Given the description of an element on the screen output the (x, y) to click on. 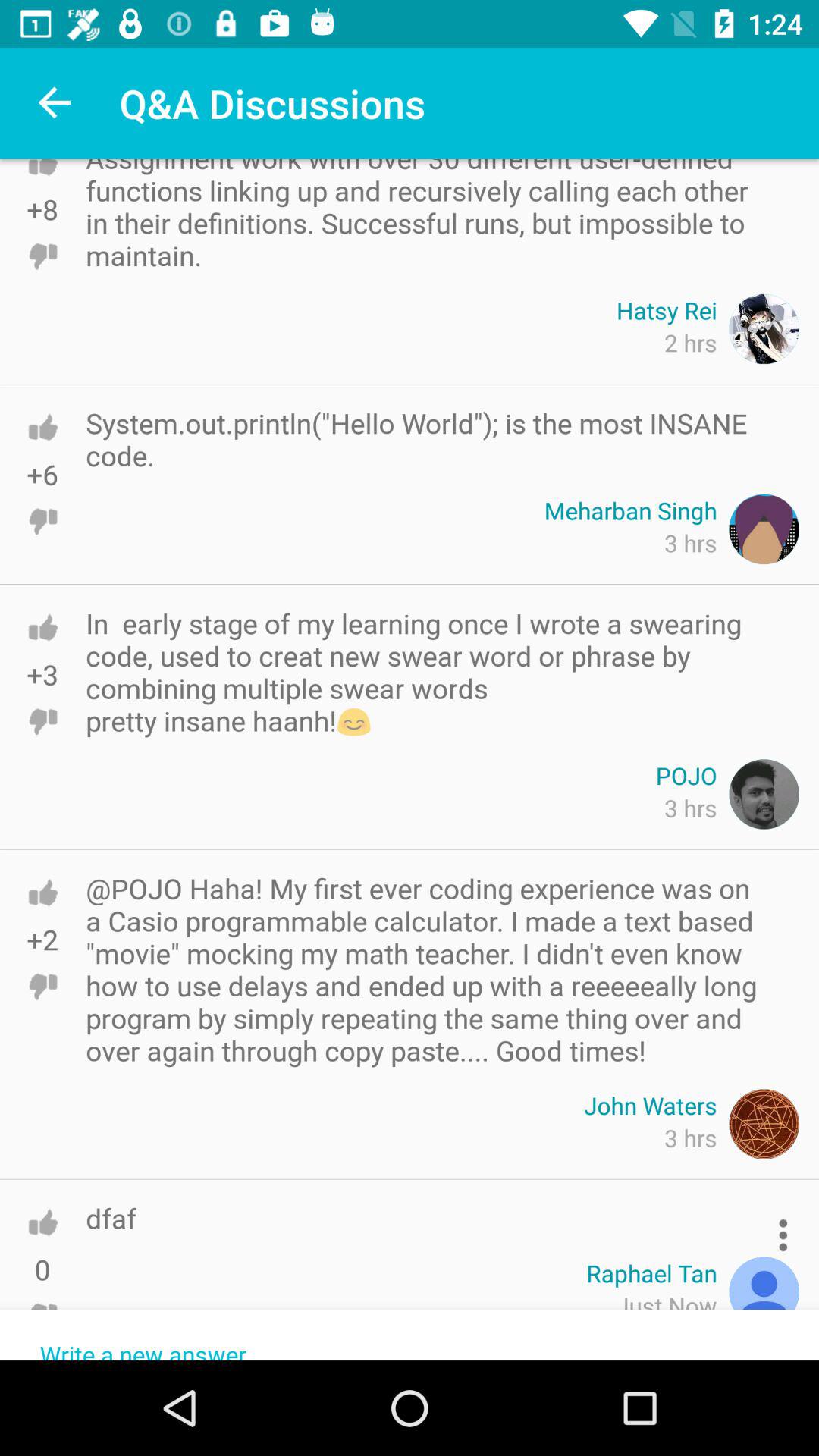
downvote (42, 521)
